Given the description of an element on the screen output the (x, y) to click on. 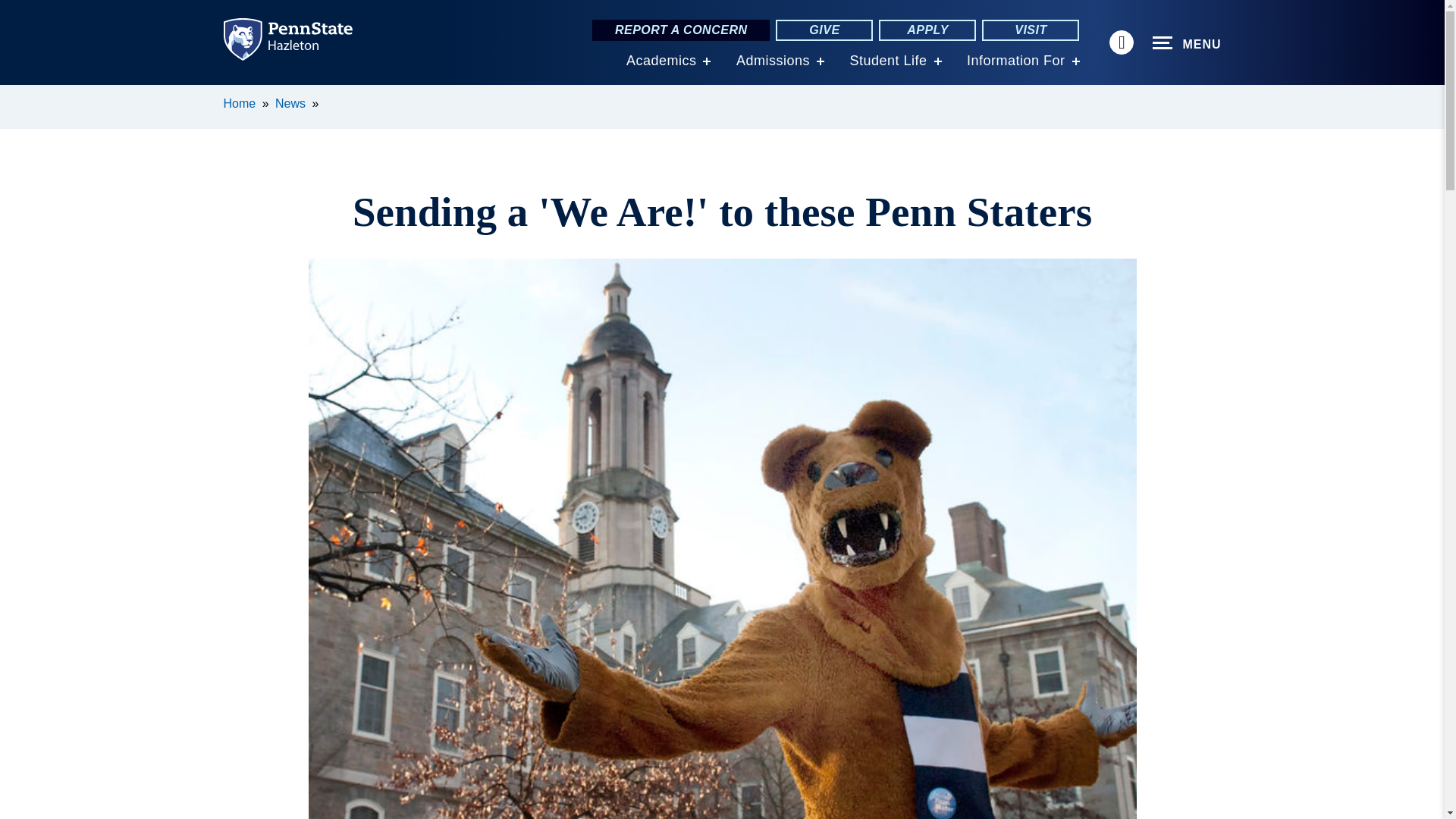
REPORT A CONCERN (681, 29)
MENU (1187, 43)
APPLY (927, 29)
Admissions (772, 60)
SKIP TO MAIN CONTENT (19, 95)
Student Life (887, 60)
Admission (772, 60)
Information For (1015, 60)
Academics (661, 60)
Academics (661, 60)
